Given the description of an element on the screen output the (x, y) to click on. 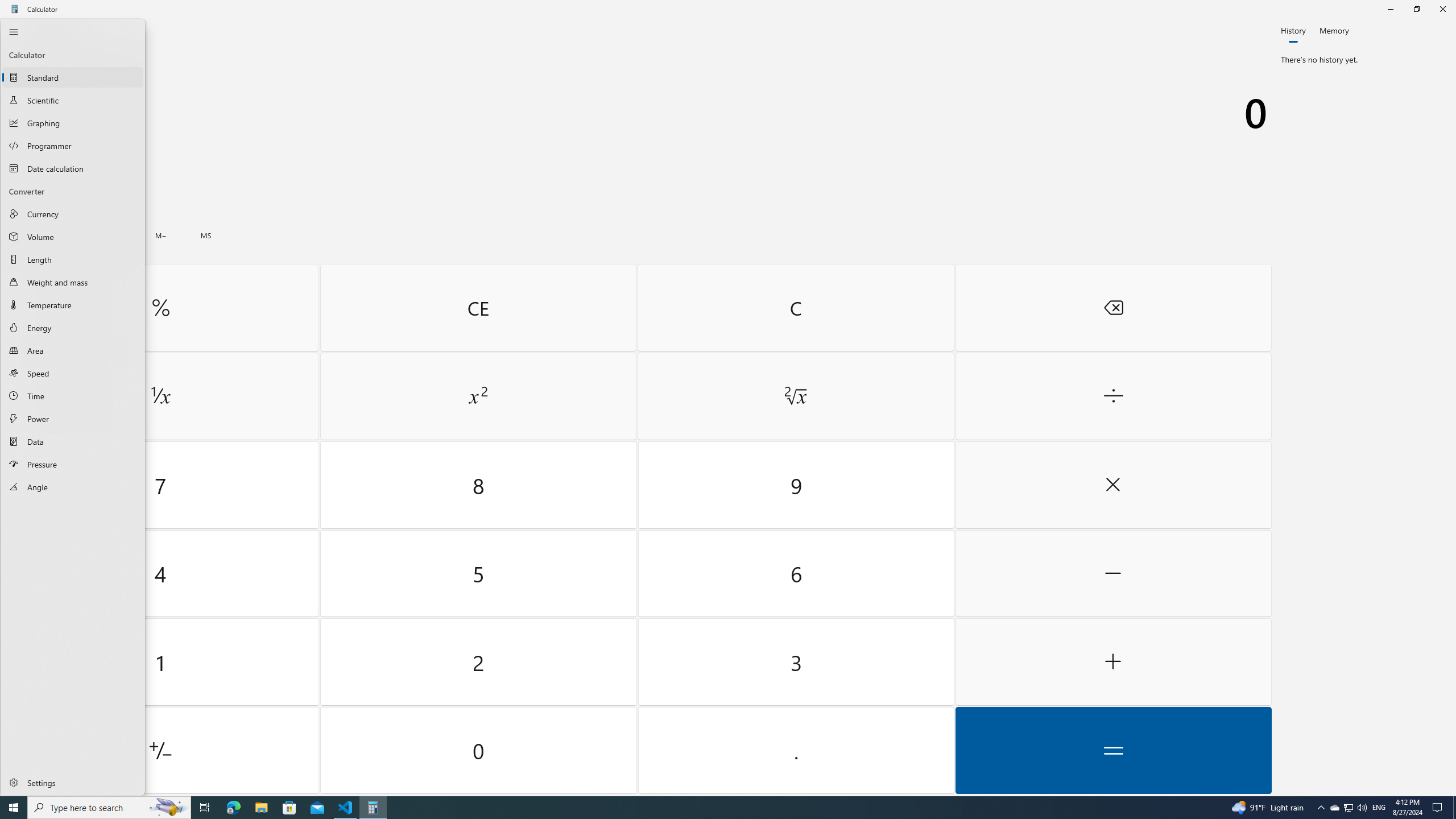
Area Converter (72, 349)
Plus (1113, 661)
One (160, 661)
Speed Converter (72, 372)
Percent (160, 307)
Currency Converter (72, 213)
Volume Converter (72, 236)
Programmer Calculator (72, 145)
Standard Calculator (72, 77)
Angle Converter (72, 486)
Calculator - 1 running window (373, 807)
